Given the description of an element on the screen output the (x, y) to click on. 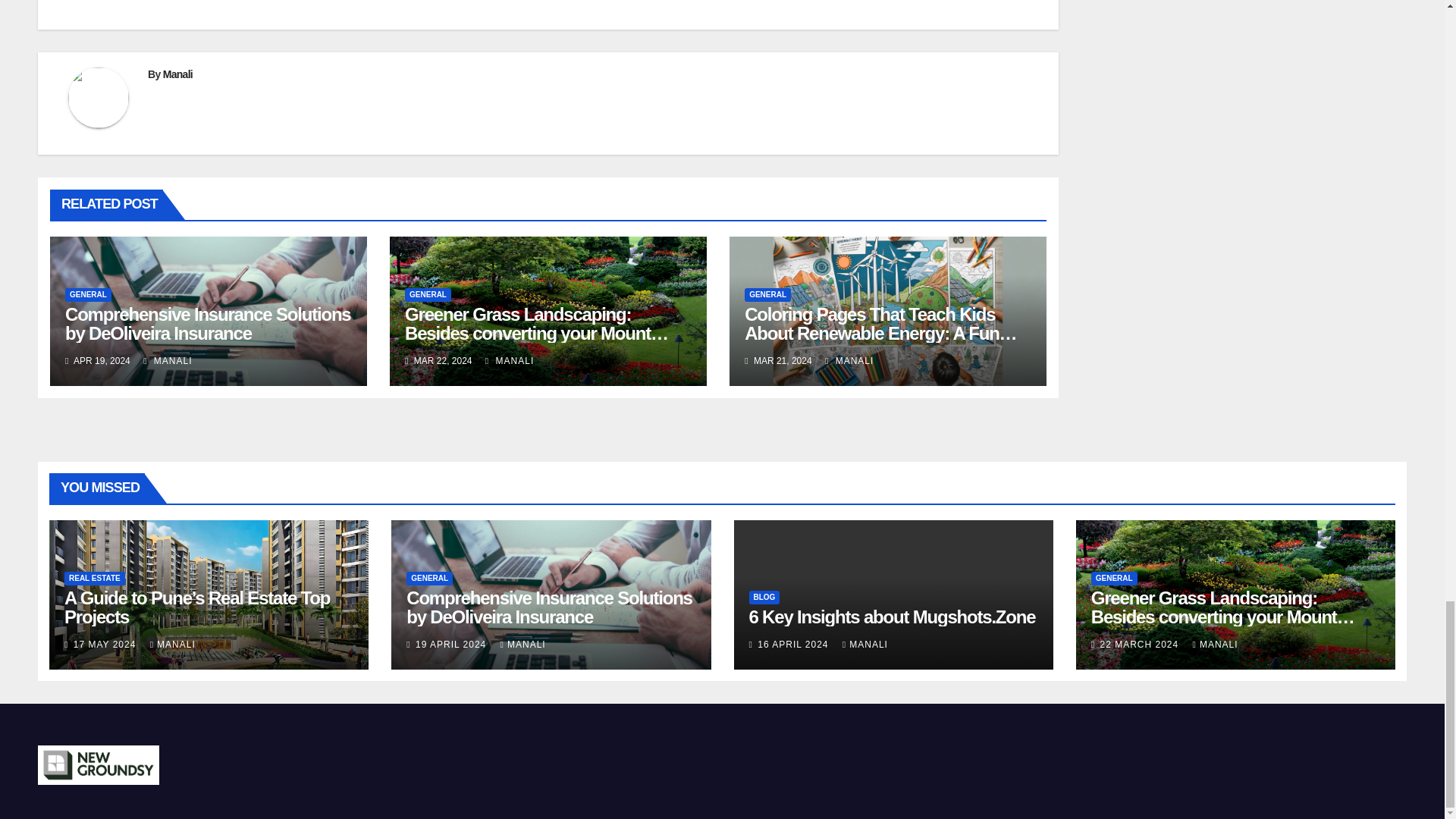
GENERAL (88, 295)
GENERAL (427, 295)
MANALI (509, 360)
GENERAL (767, 295)
MANALI (167, 360)
Permalink to: 6 Key Insights about Mugshots.Zone (892, 616)
